Given the description of an element on the screen output the (x, y) to click on. 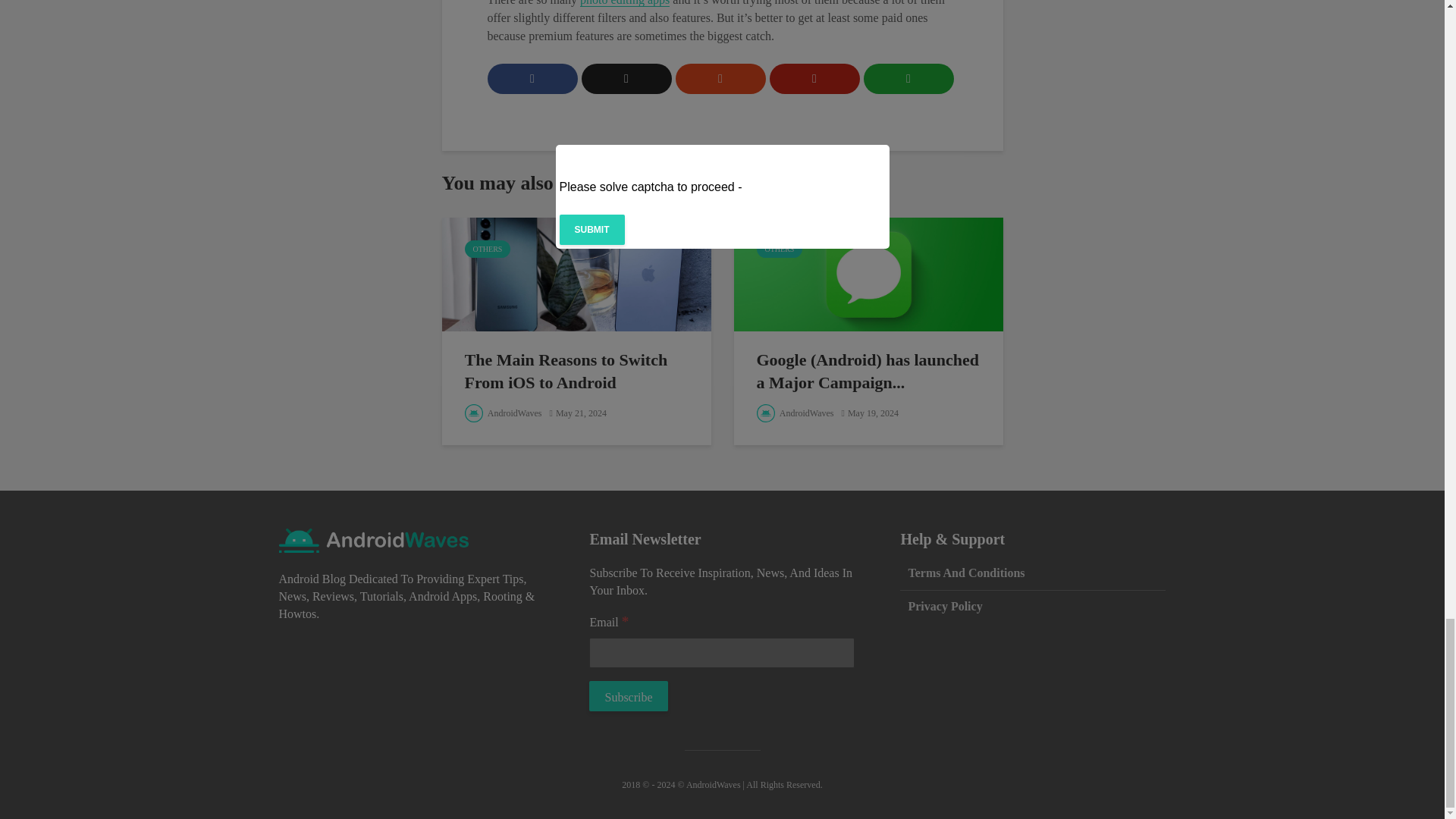
OTHERS (780, 248)
AndroidWaves (502, 412)
OTHERS (487, 248)
The Main Reasons to Switch From iOS to Android (575, 273)
The Main Reasons to Switch From iOS to Android (575, 370)
photo editing apps (624, 3)
Subscribe (627, 695)
